Given the description of an element on the screen output the (x, y) to click on. 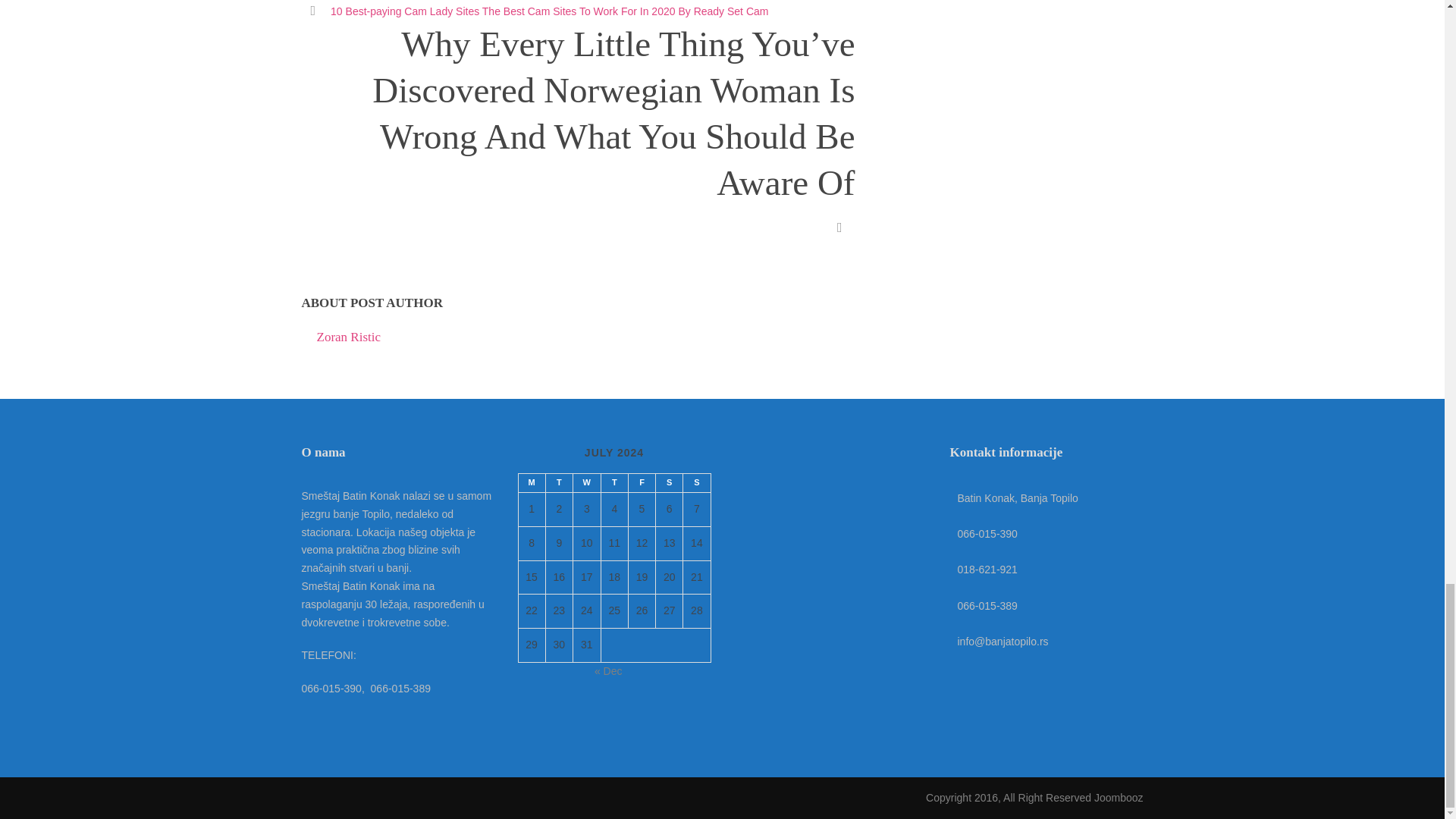
Sunday (696, 482)
Tuesday (558, 482)
Zoran Ristic (349, 336)
Monday (531, 482)
Thursday (613, 482)
Wednesday (585, 482)
Posts by Zoran Ristic (349, 336)
Saturday (669, 482)
Friday (641, 482)
